Given the description of an element on the screen output the (x, y) to click on. 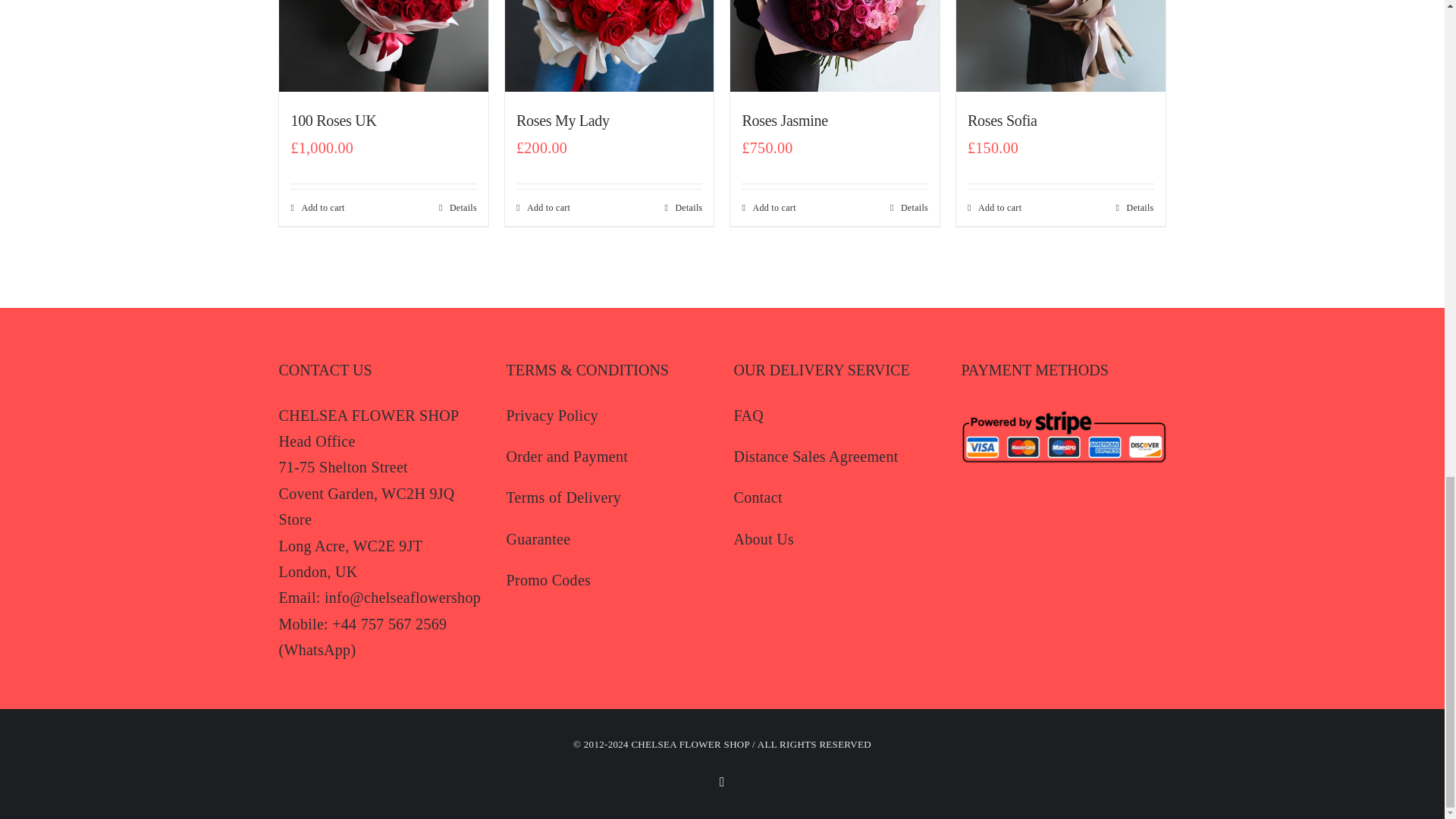
Add to cart (316, 207)
Roses Sofia (1002, 120)
100 Roses UK (332, 120)
Details (458, 207)
Add to cart (995, 207)
Add to cart (543, 207)
Add to cart (767, 207)
Details (682, 207)
Roses My Lady (563, 120)
Details (908, 207)
Roses Jasmine (784, 120)
